Given the description of an element on the screen output the (x, y) to click on. 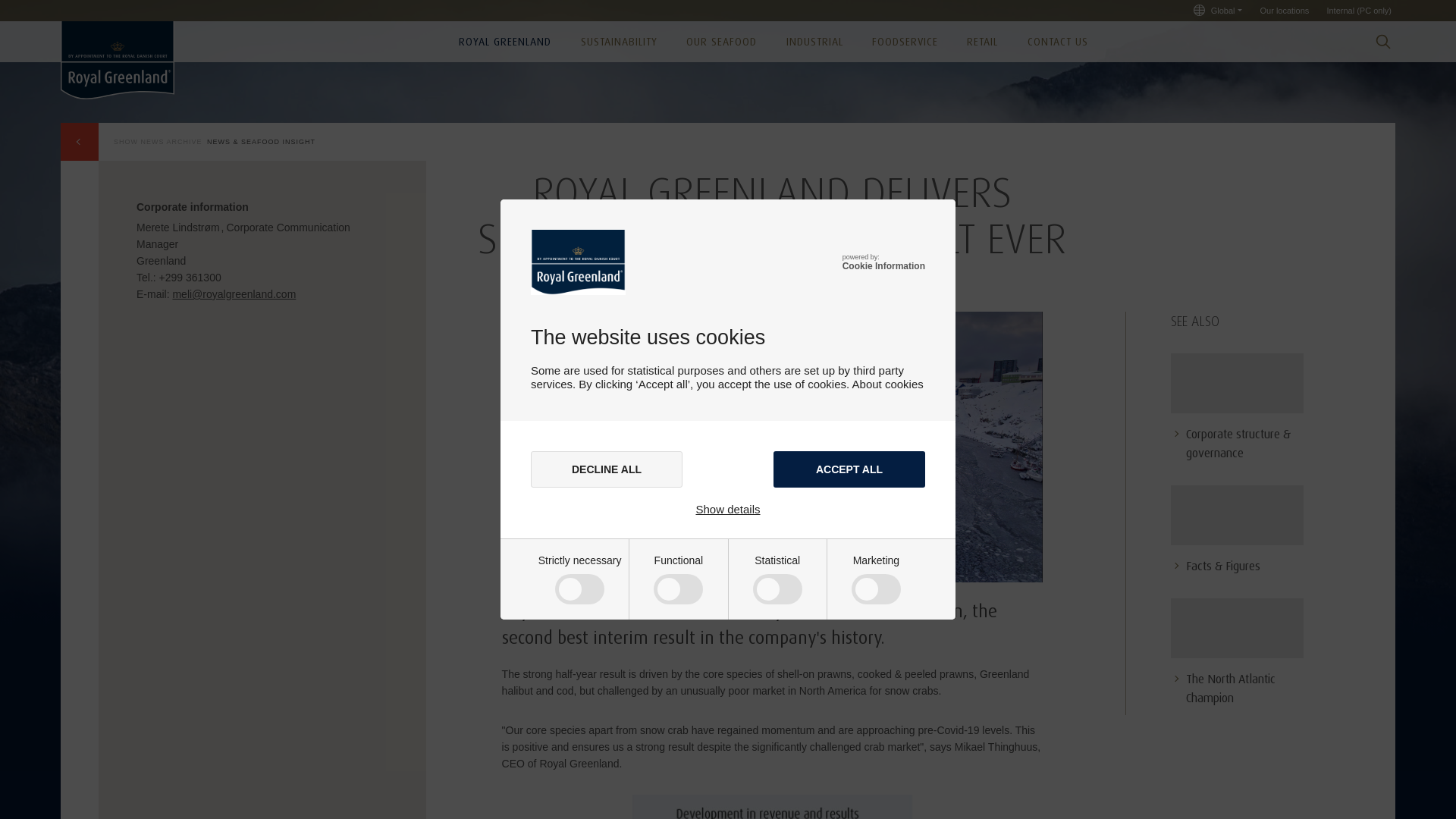
ACCEPT ALL (848, 469)
Show details (727, 508)
Cookie Information (883, 266)
About cookies (887, 383)
DECLINE ALL (606, 469)
